Given the description of an element on the screen output the (x, y) to click on. 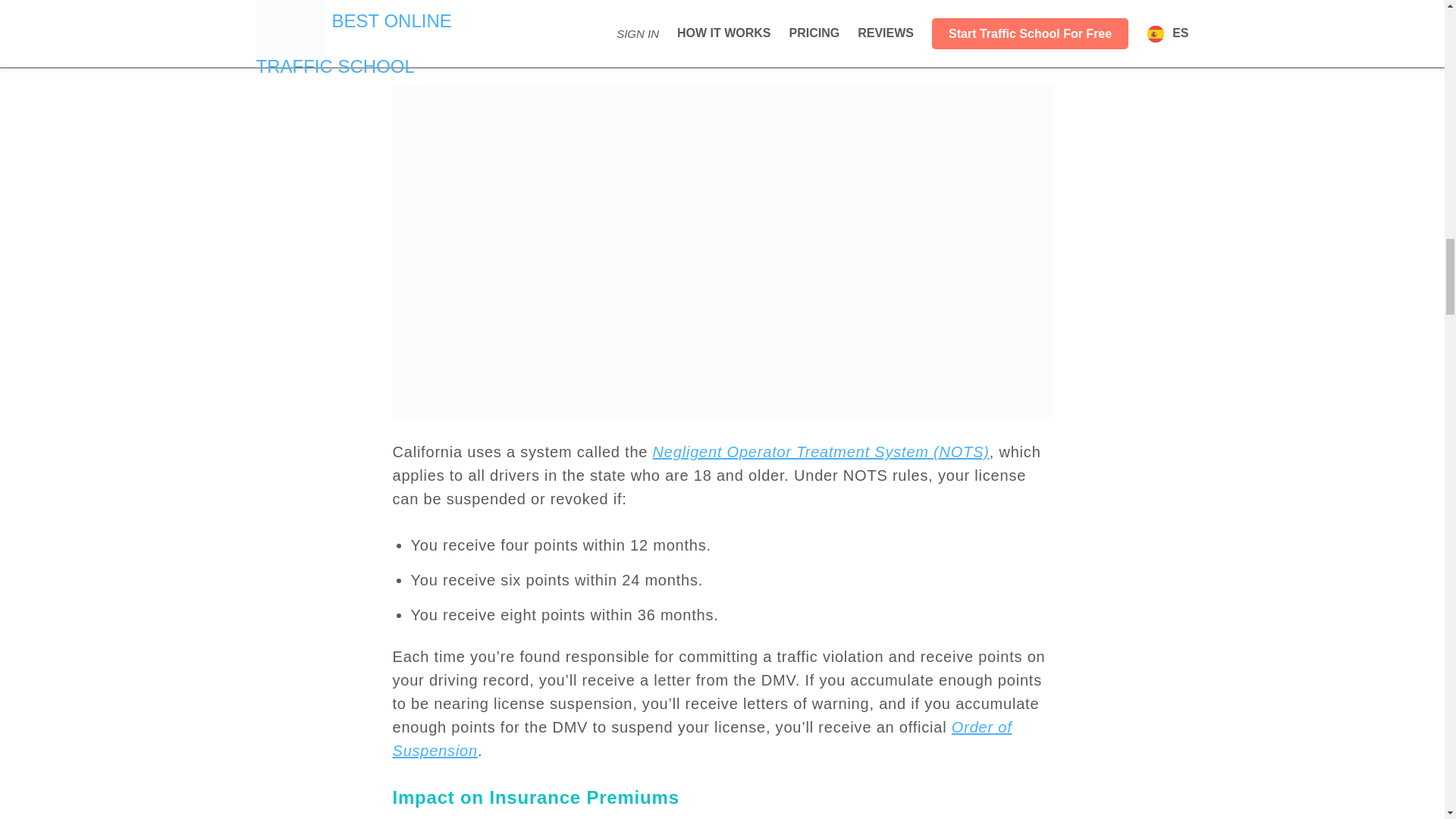
Order of Suspension (702, 739)
Reckless driving (470, 5)
